Given the description of an element on the screen output the (x, y) to click on. 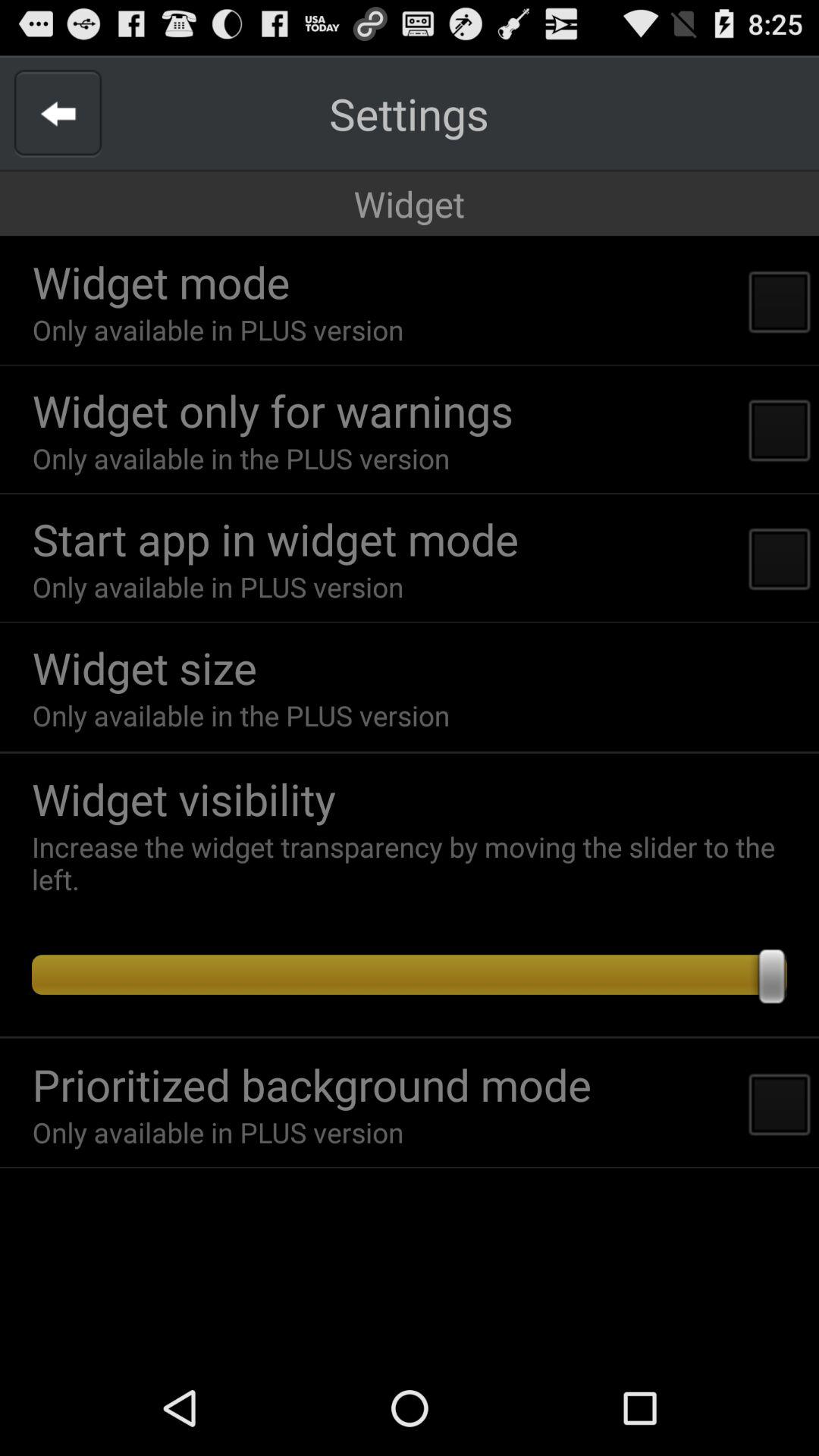
choose the icon below only available in app (275, 538)
